Given the description of an element on the screen output the (x, y) to click on. 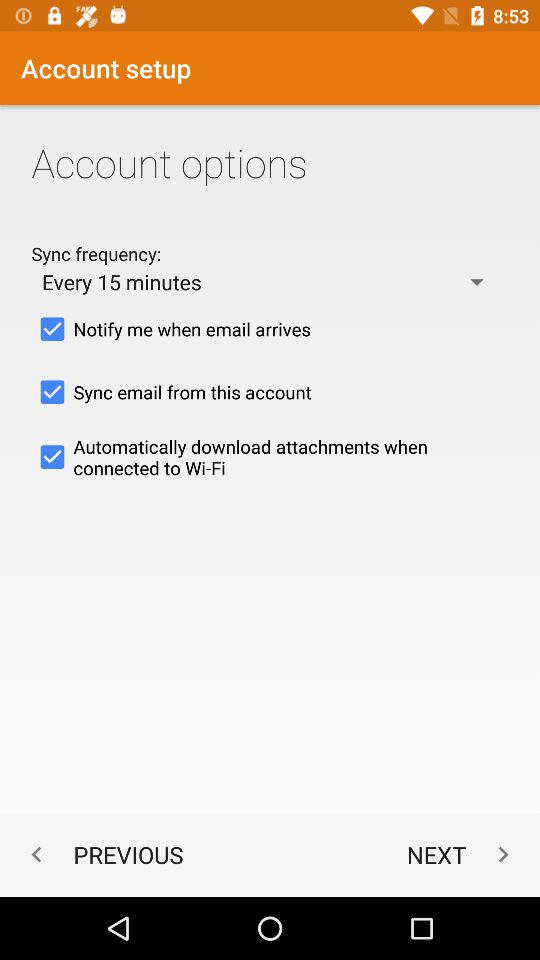
press the previous (102, 854)
